Given the description of an element on the screen output the (x, y) to click on. 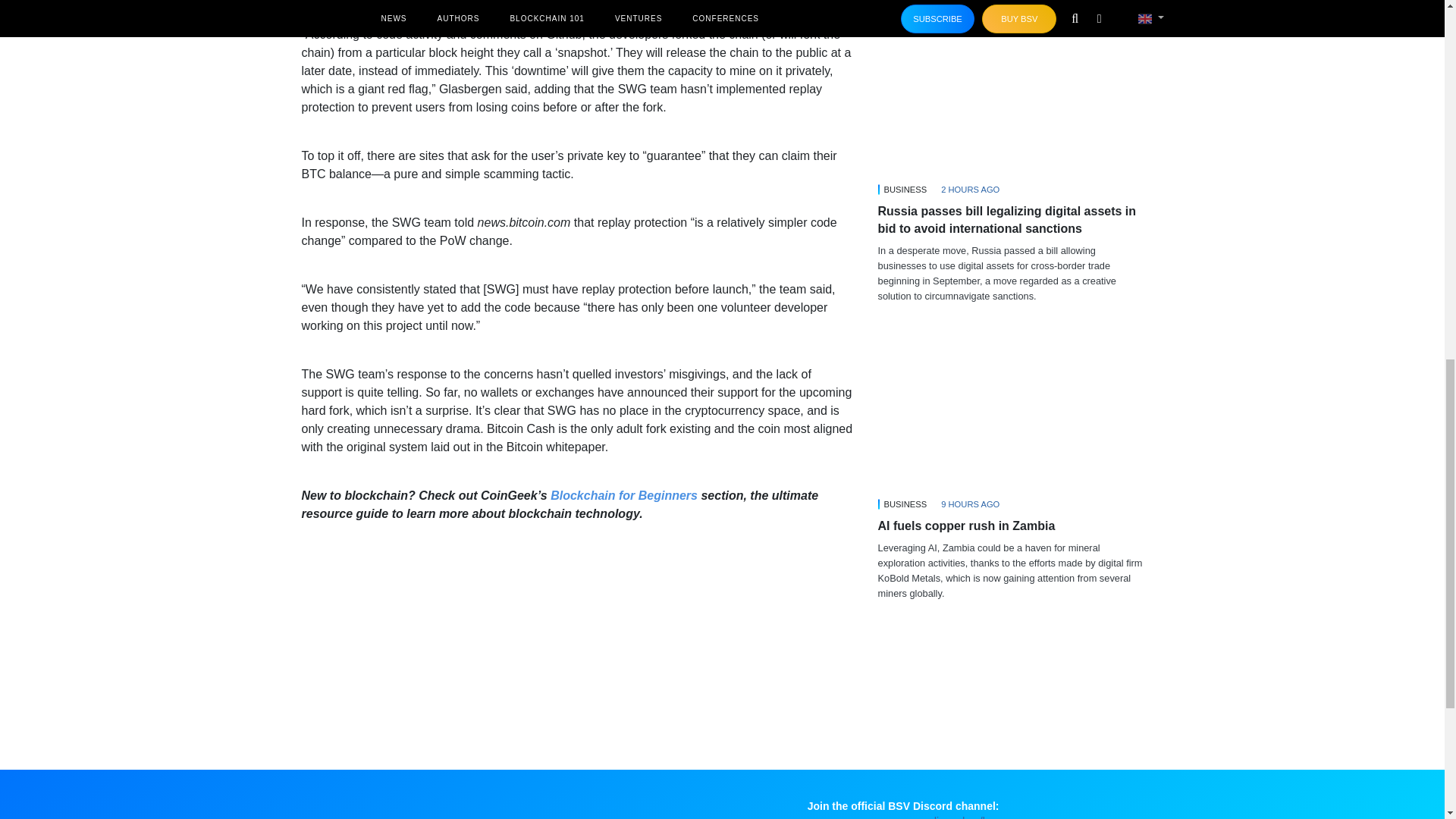
Blockchain for Beginners (623, 495)
